Given the description of an element on the screen output the (x, y) to click on. 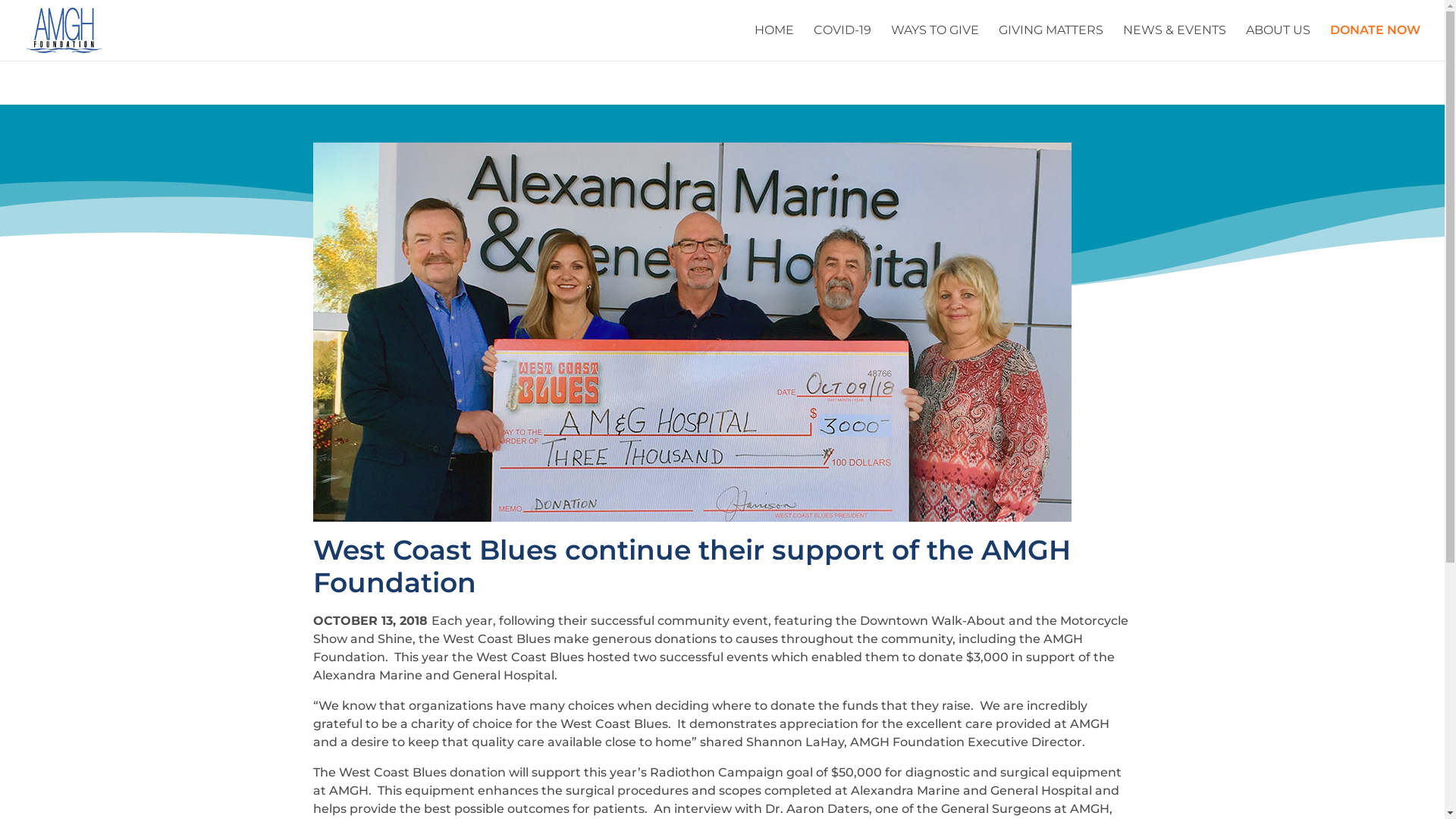
WAYS TO GIVE Element type: text (935, 42)
HOME Element type: text (773, 42)
COVID-19 Element type: text (842, 42)
GIVING MATTERS Element type: text (1050, 42)
NEWS & EVENTS Element type: text (1174, 42)
ABOUT US Element type: text (1277, 42)
DONATE NOW Element type: text (1375, 42)
